Given the description of an element on the screen output the (x, y) to click on. 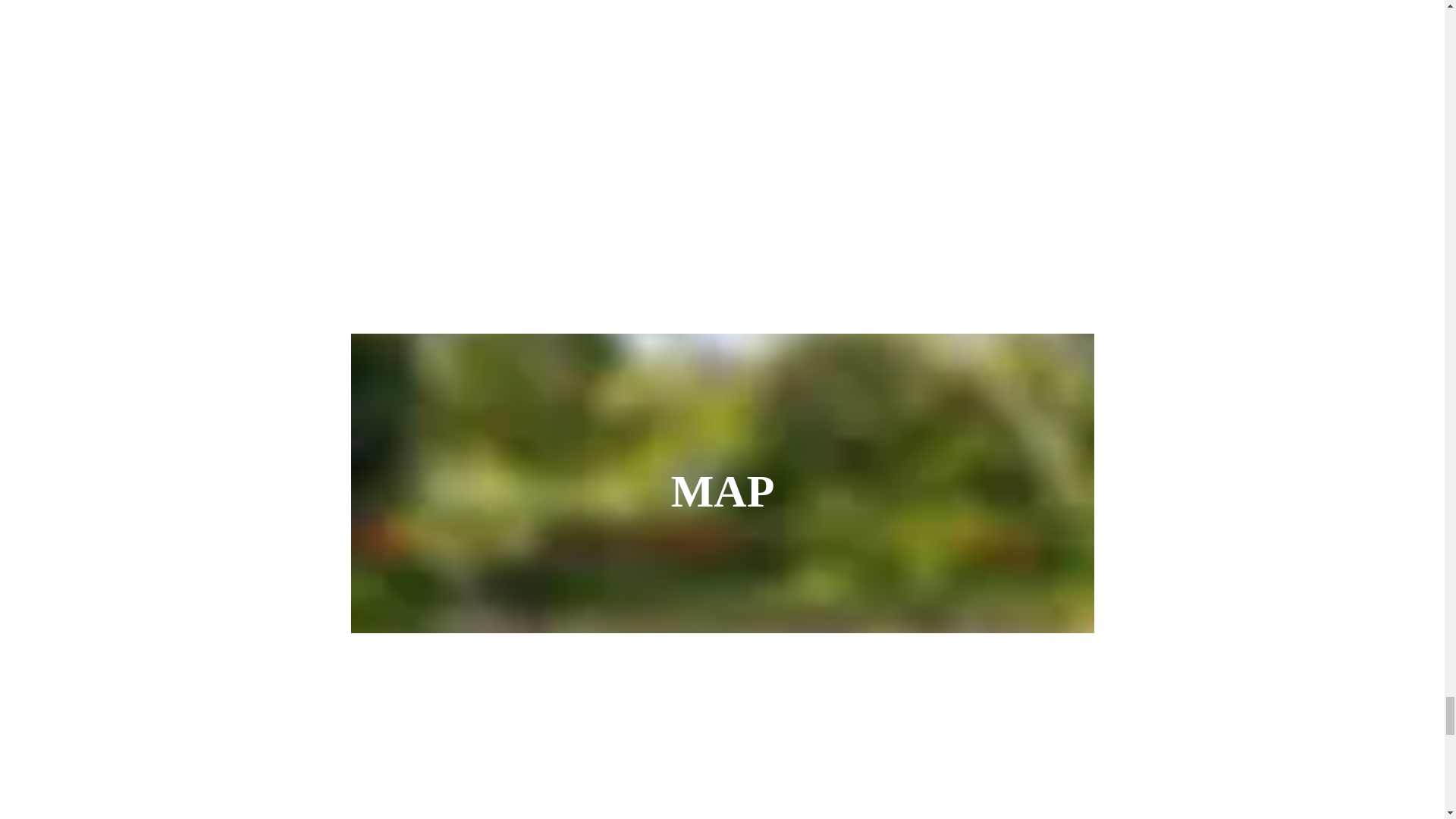
Google Maps (721, 744)
